Given the description of an element on the screen output the (x, y) to click on. 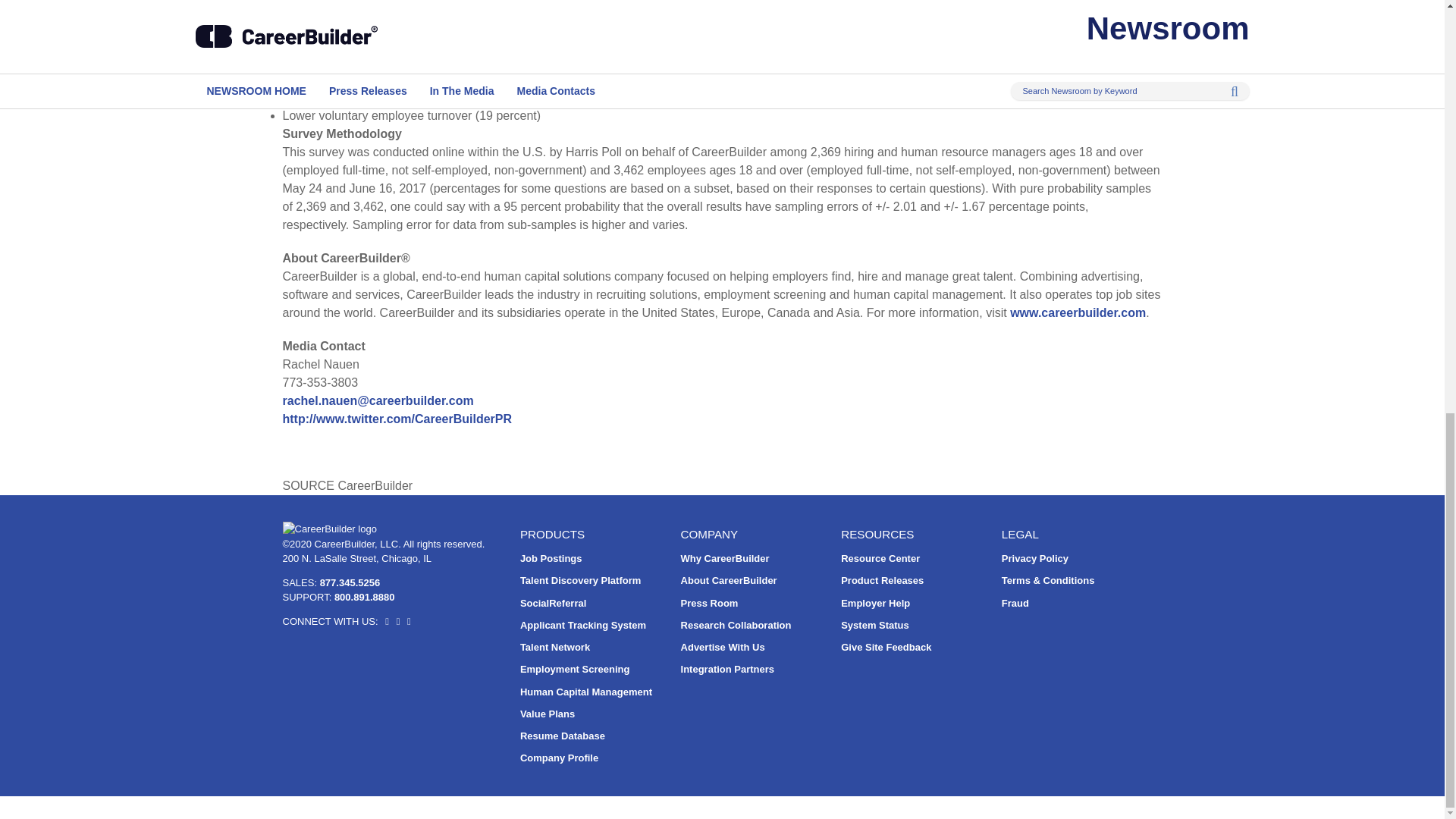
Human Capital Management (585, 691)
Value Plans (547, 713)
www.careerbuilder.com (1077, 312)
Talent Discovery Platform (579, 580)
Applicant Tracking System (582, 624)
Job Postings (550, 558)
877.345.5256 (350, 582)
Employment Screening (573, 668)
Resume Database (562, 736)
SocialReferral (552, 603)
